Given the description of an element on the screen output the (x, y) to click on. 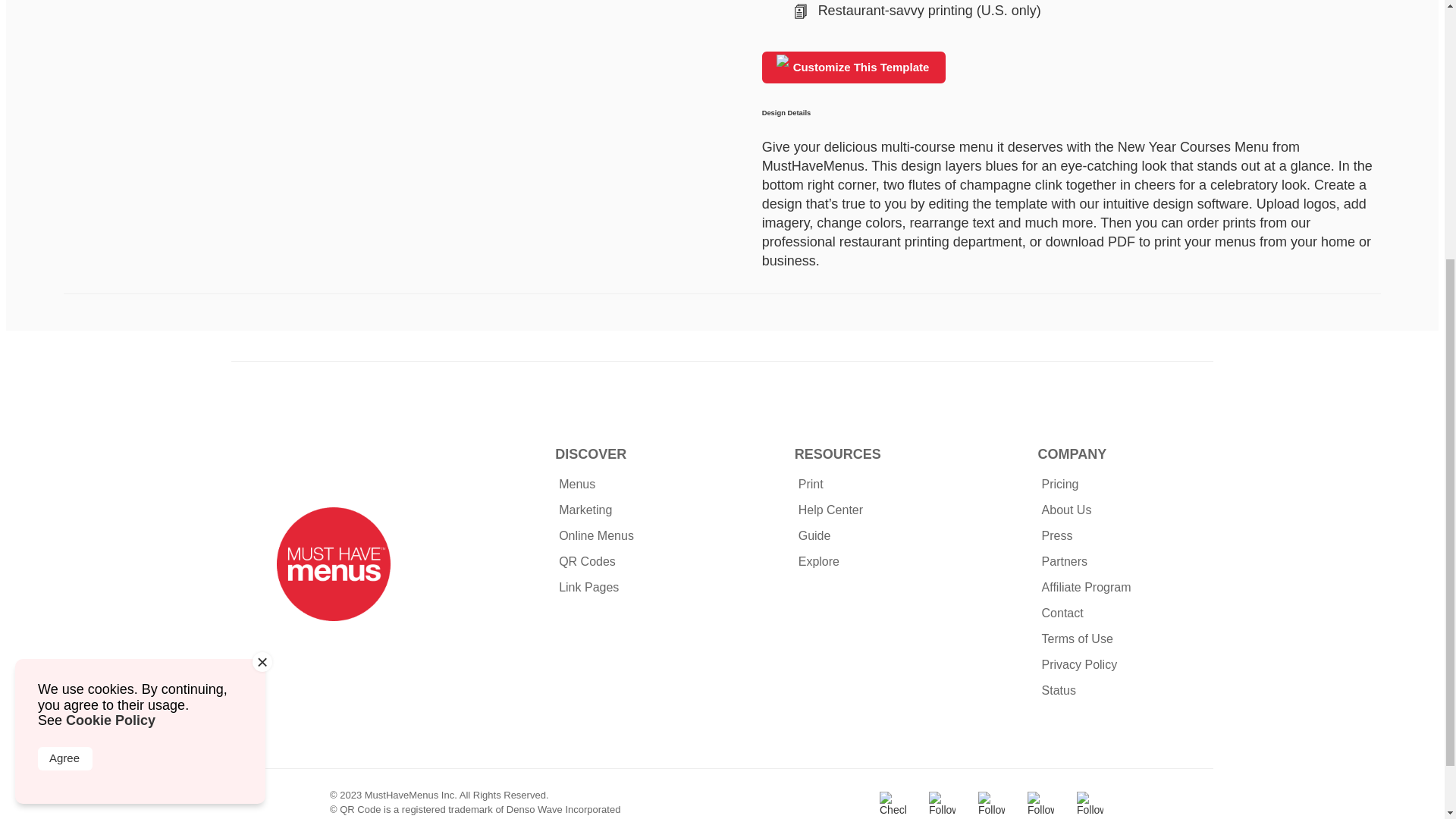
Customize This Template (853, 67)
